Given the description of an element on the screen output the (x, y) to click on. 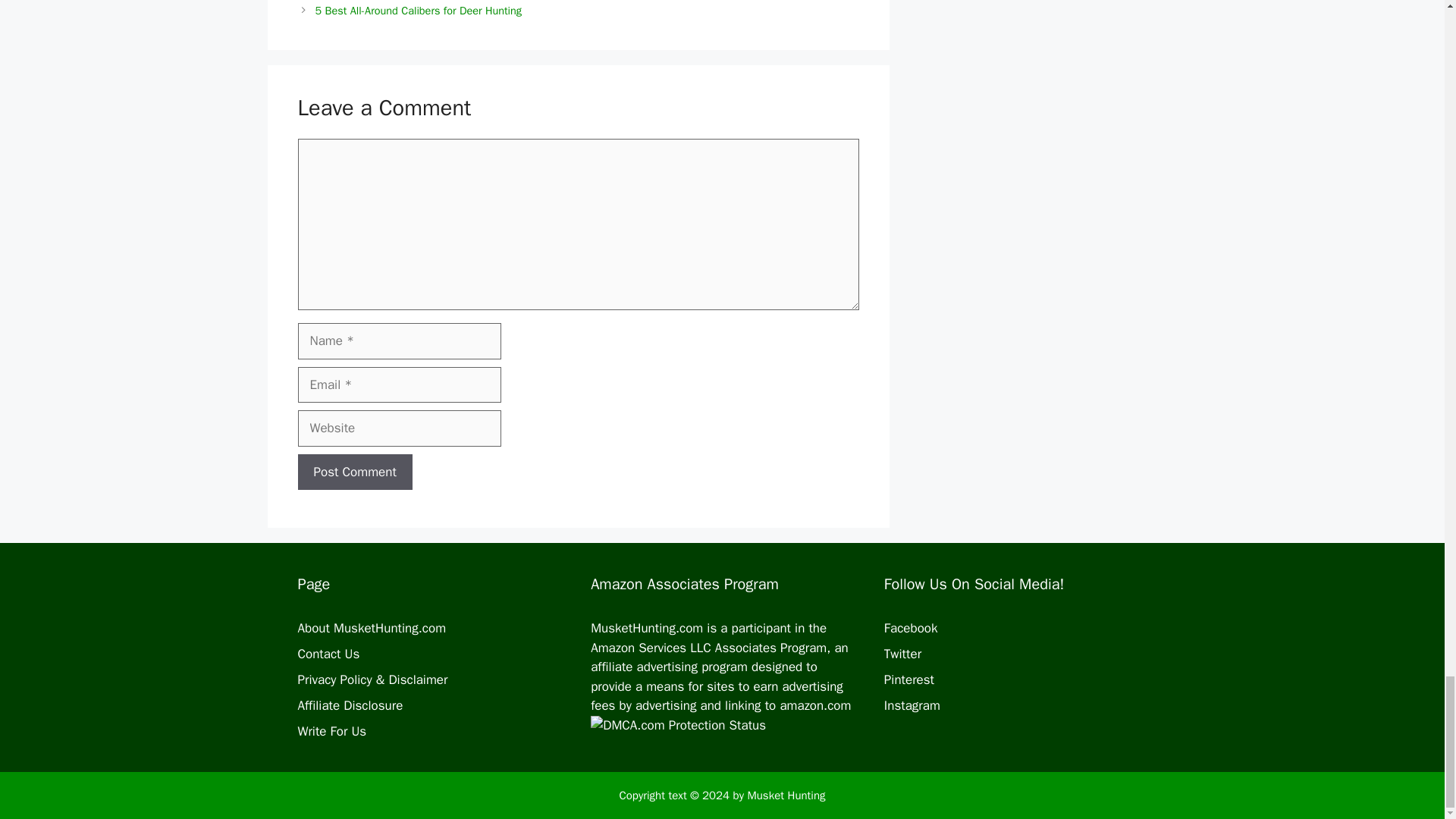
Post Comment (354, 472)
DMCA.com Protection Status (720, 734)
5 Best All-Around Calibers for Deer Hunting (418, 10)
Post Comment (354, 472)
